Given the description of an element on the screen output the (x, y) to click on. 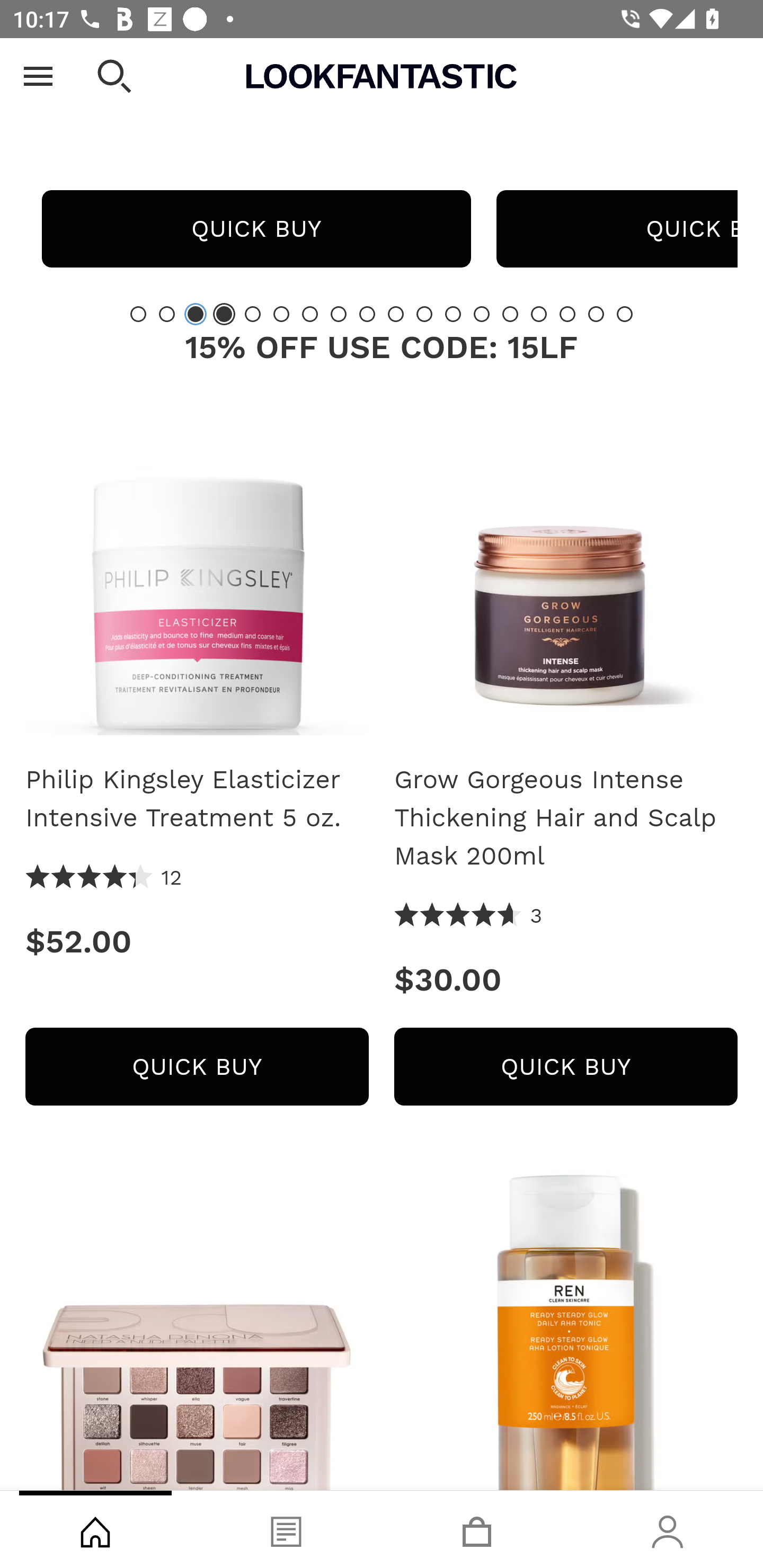
Slide 1 (138, 314)
Slide 2 (166, 314)
Showing Slide 3 (Current Item) (195, 314)
Showing Slide 4 (Current Item) (223, 314)
Slide 5 (252, 314)
Slide 6 (281, 314)
Slide 7 (310, 314)
Slide 8 (338, 314)
Slide 9 (367, 314)
Slide 10 (395, 314)
Slide 11 (424, 314)
Slide 12 (452, 314)
Slide 13 (481, 314)
Slide 14 (510, 314)
Slide 15 (539, 314)
Slide 16 (567, 314)
Slide 17 (596, 314)
Slide 18 (624, 314)
4.33 Stars 12 Reviews (104, 877)
4.67 Stars 3 Reviews (468, 916)
Price: $52.00 (196, 941)
Price: $30.00 (565, 979)
Natasha Denona I Need A Nude Palette (196, 1329)
Shop, tab, 1 of 4 (95, 1529)
Blog, tab, 2 of 4 (285, 1529)
Basket, tab, 3 of 4 (476, 1529)
Account, tab, 4 of 4 (667, 1529)
